Given the description of an element on the screen output the (x, y) to click on. 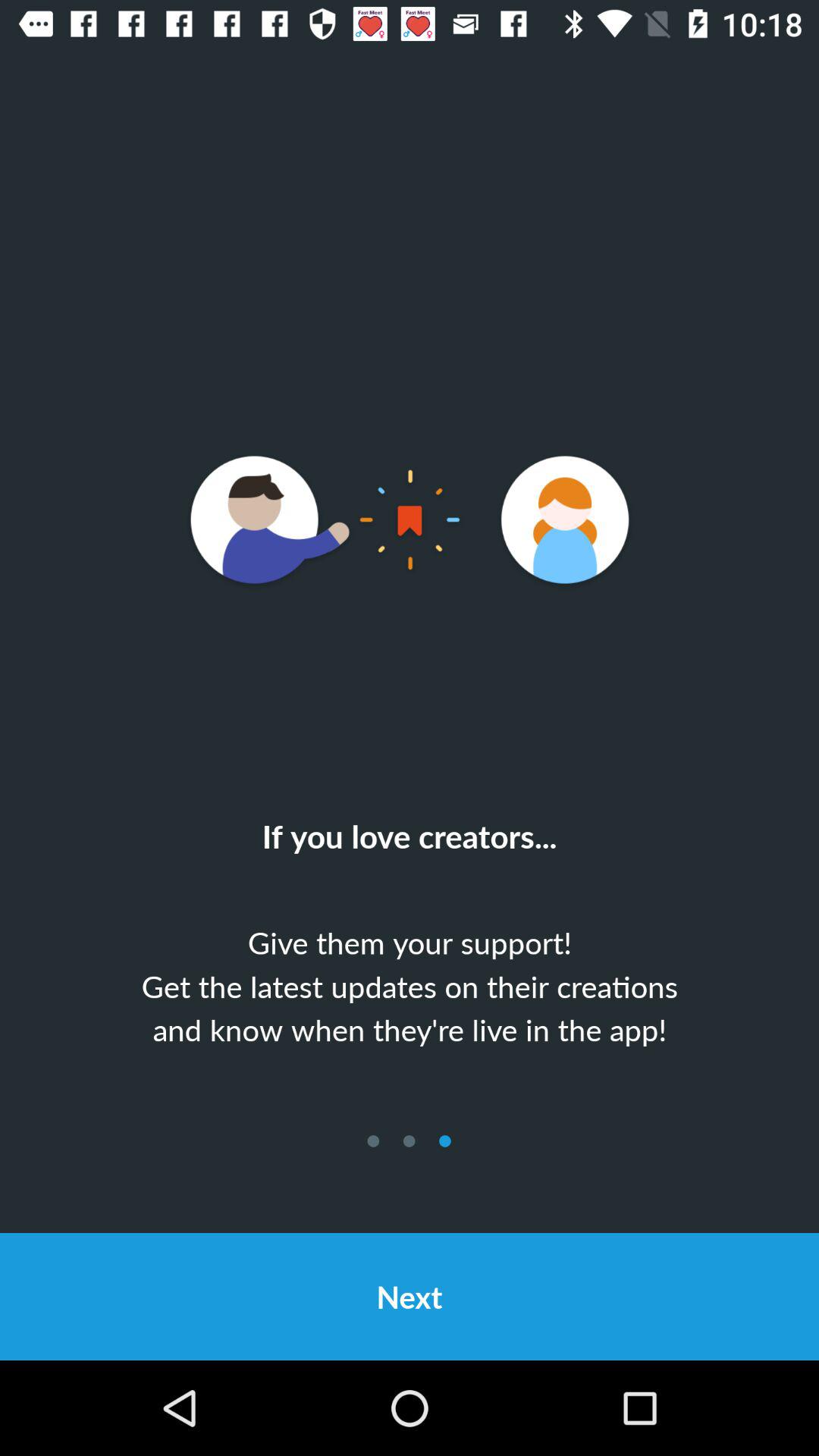
launch the next item (409, 1296)
